Given the description of an element on the screen output the (x, y) to click on. 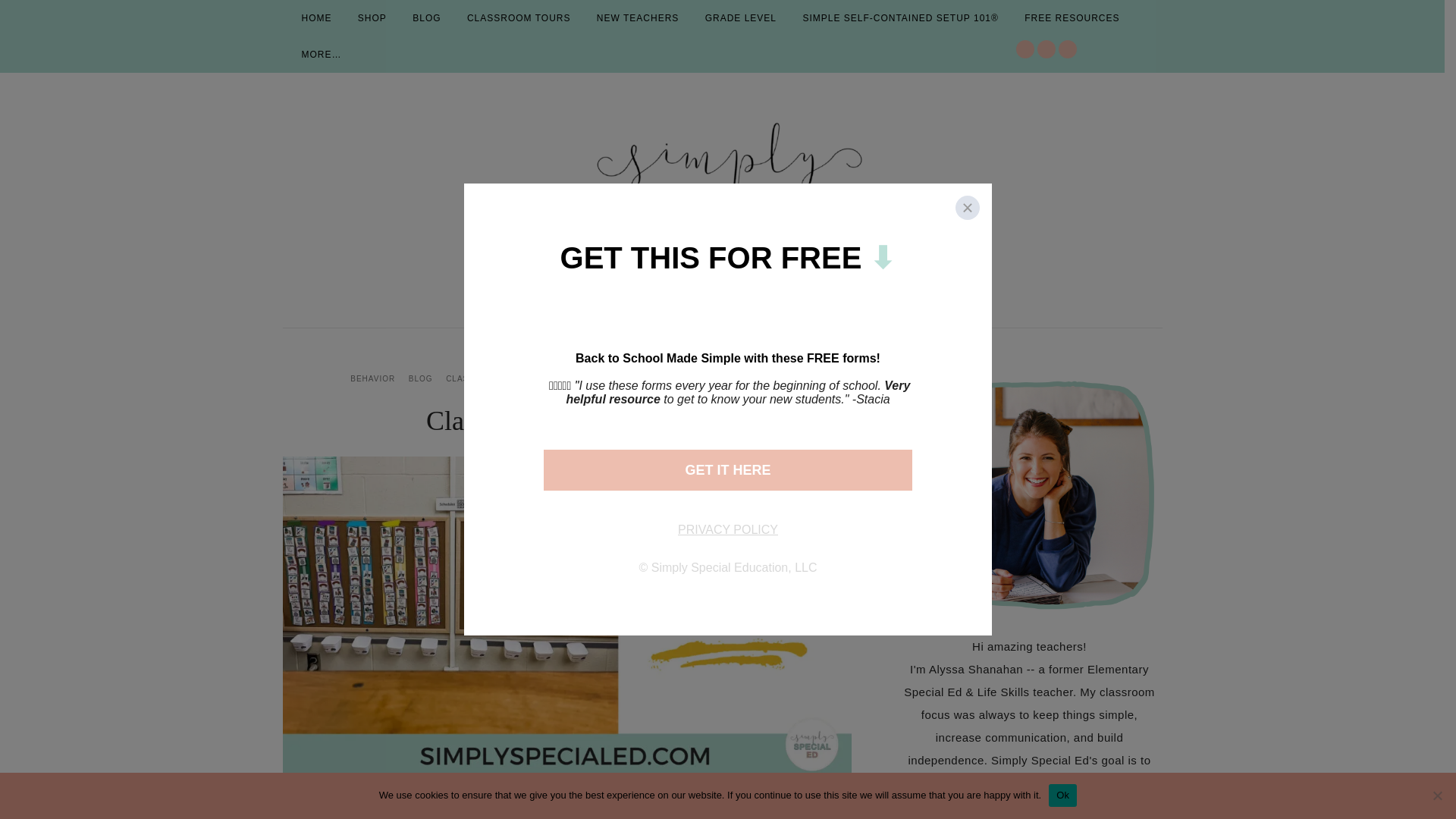
BLOG (426, 18)
No (1436, 795)
SHOP (371, 18)
HOME (315, 18)
